Given the description of an element on the screen output the (x, y) to click on. 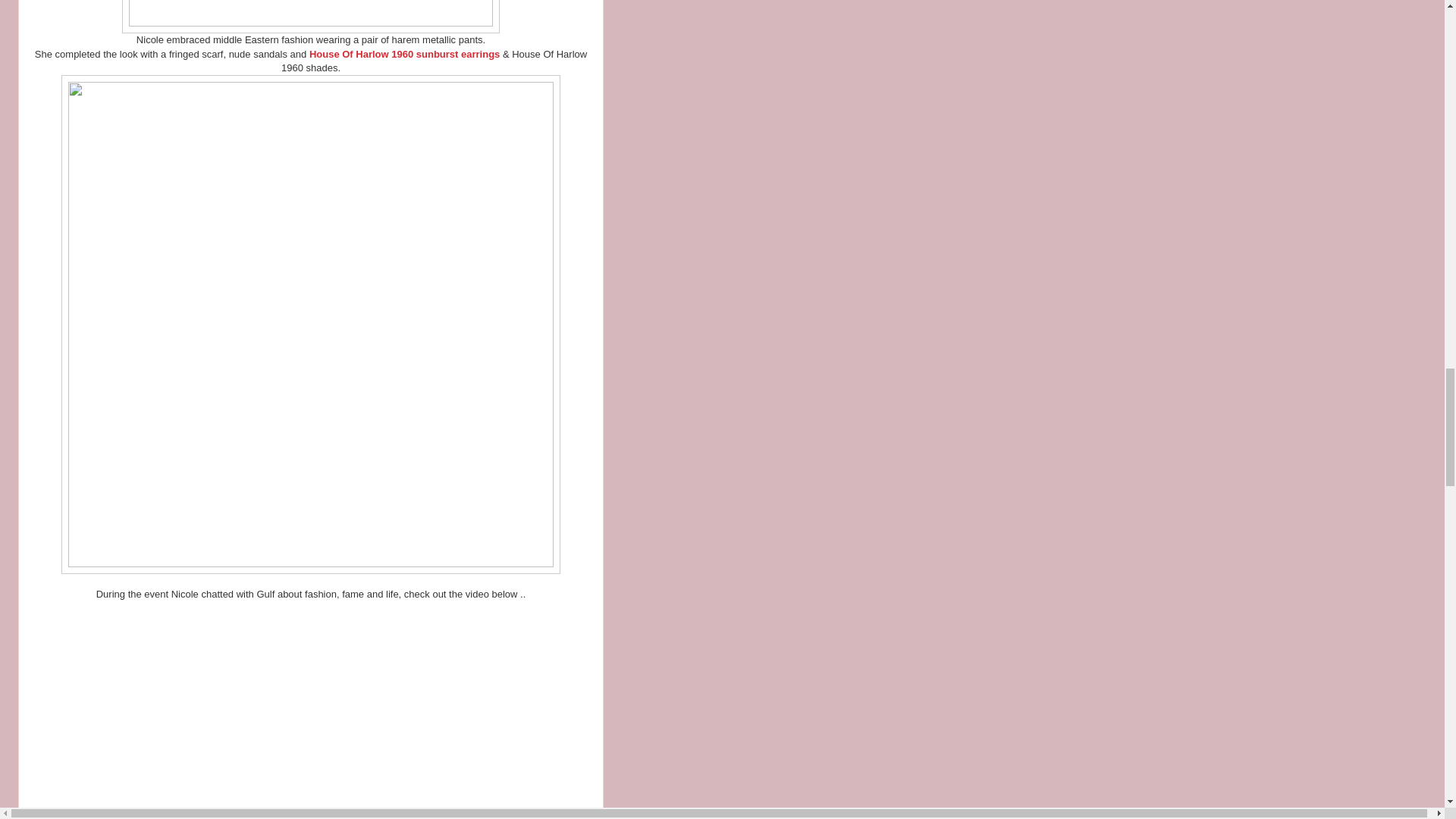
House Of Harlow 1960 sunburst earrings (403, 53)
